Given the description of an element on the screen output the (x, y) to click on. 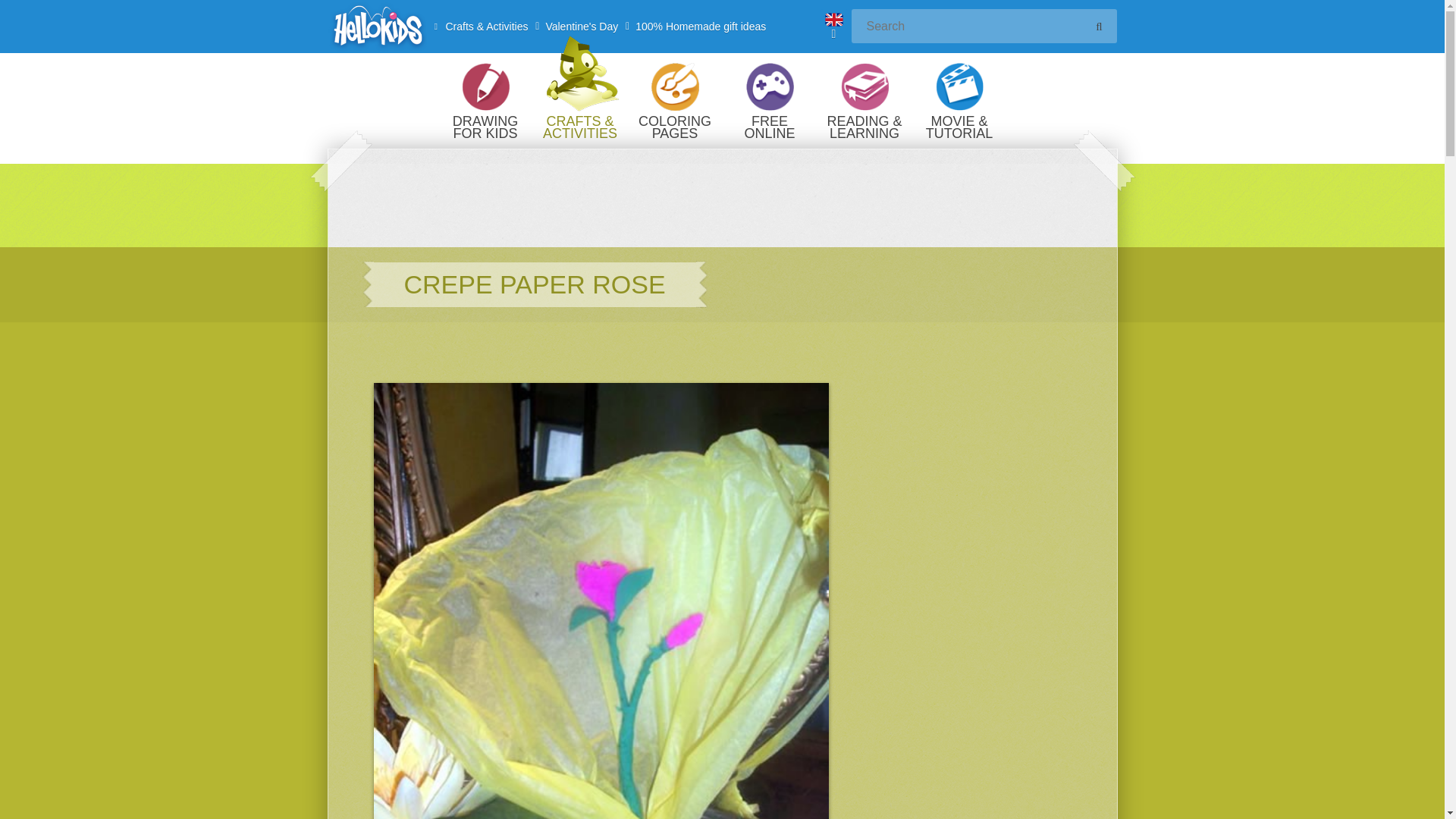
FREE ONLINE GAMES (769, 100)
DRAWING FOR KIDS (485, 100)
Valentine's Day (580, 26)
Drawing for Kids (485, 100)
COLORING PAGES (674, 100)
Valentine's Day (580, 26)
Free Online Games (769, 100)
Coloring pages (674, 100)
Home (376, 26)
